Given the description of an element on the screen output the (x, y) to click on. 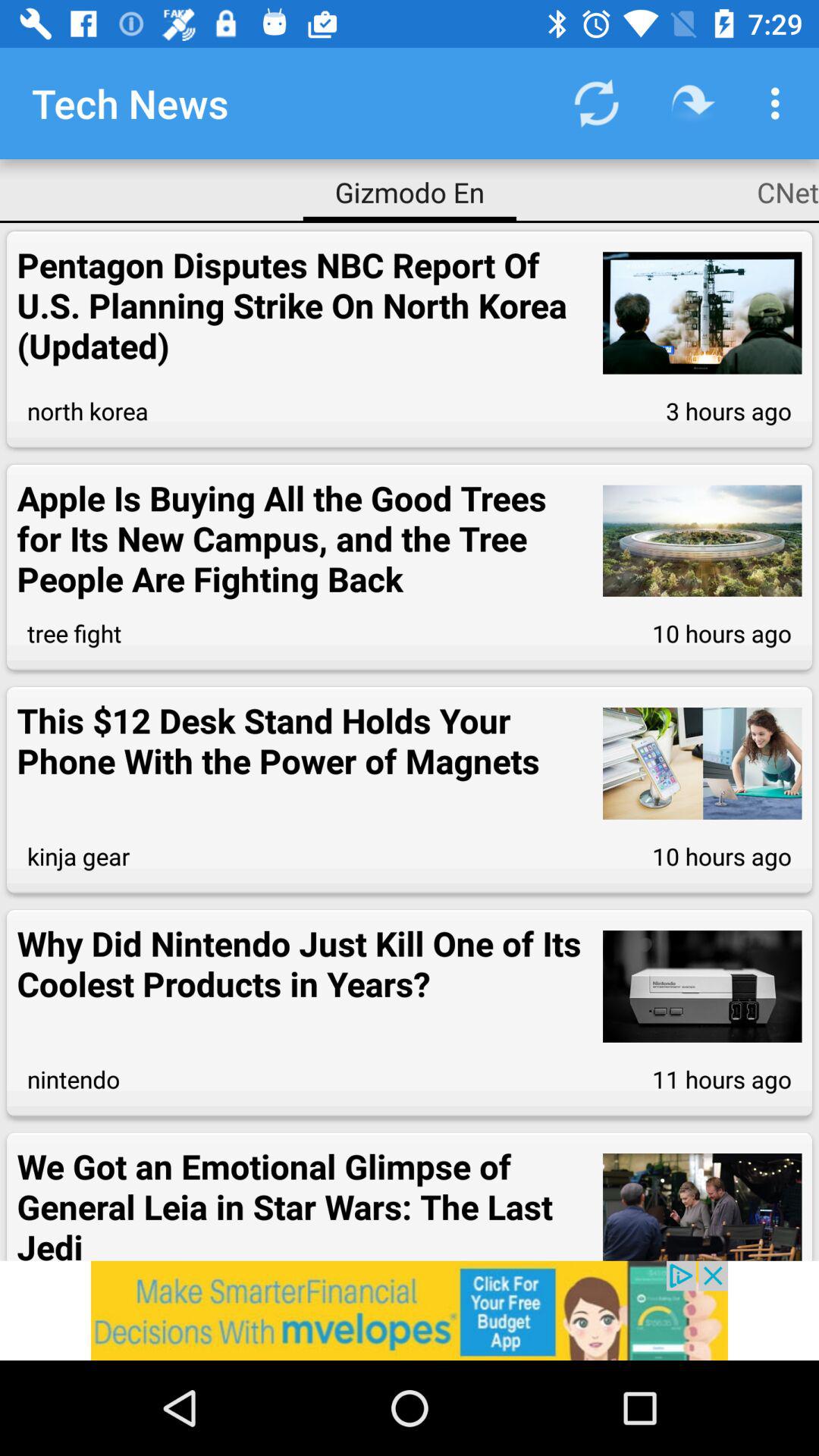
redirects you to offer page (409, 1310)
